Given the description of an element on the screen output the (x, y) to click on. 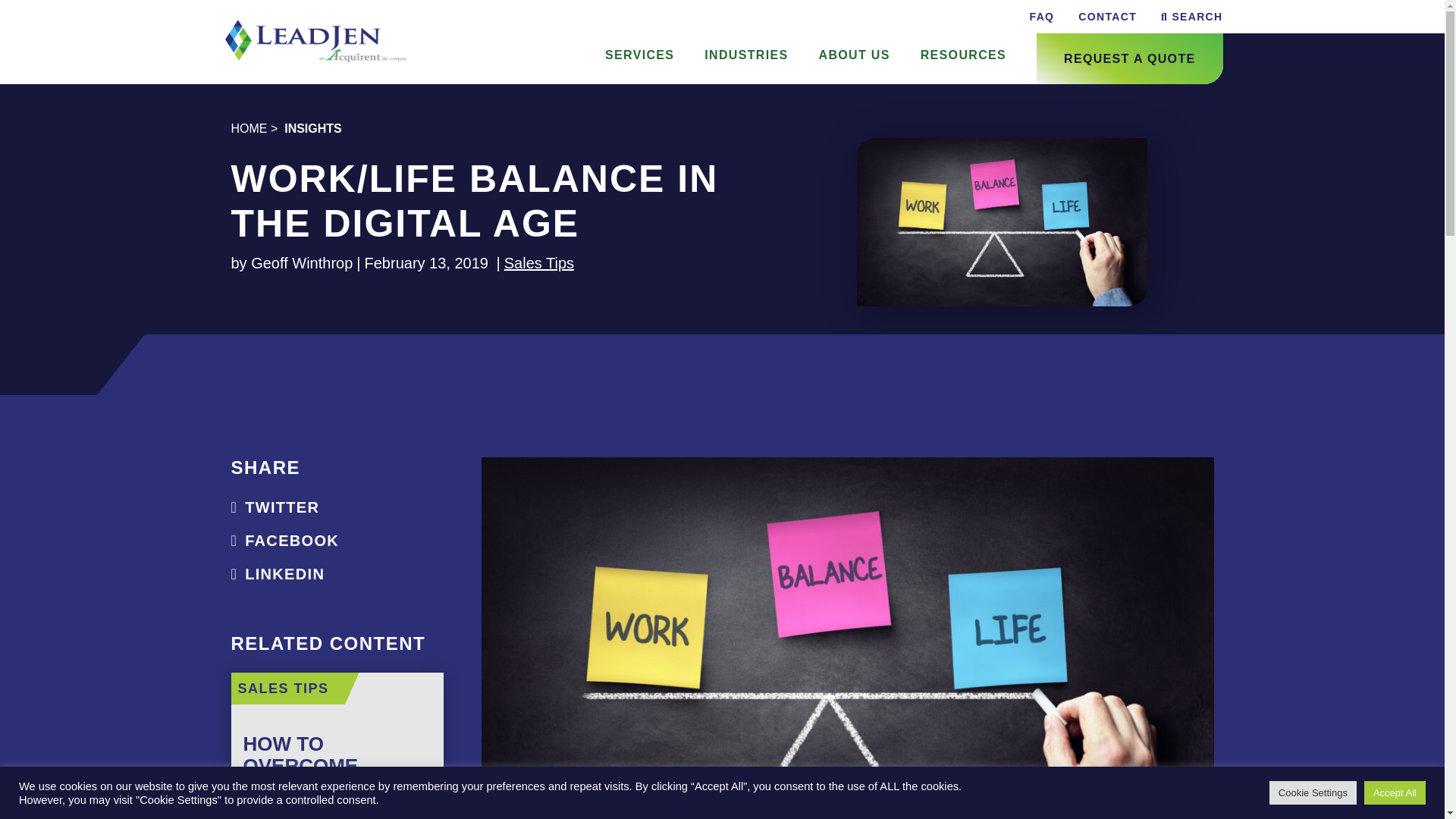
REQUEST A QUOTE (1129, 58)
SEARCH (1185, 16)
INSIGHTS (312, 128)
Geoff Winthrop (301, 262)
SERVICES (639, 55)
INDUSTRIES (745, 55)
RESOURCES (963, 55)
HOME (248, 128)
CONTACT (1101, 16)
FAQ (1035, 16)
Posts by Geoff Winthrop (301, 262)
ABOUT US (853, 55)
